Given the description of an element on the screen output the (x, y) to click on. 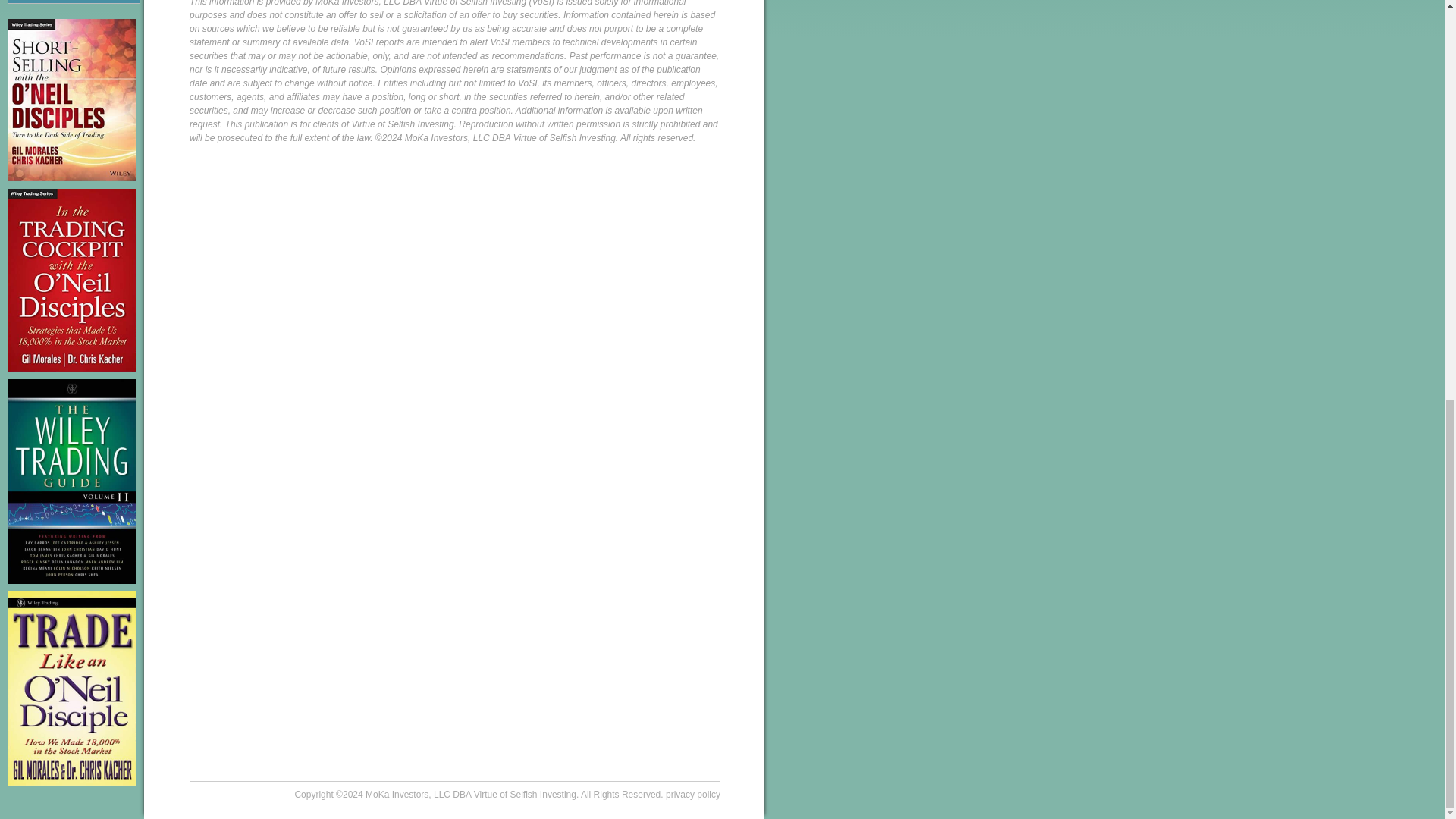
privacy policy (692, 794)
